Given the description of an element on the screen output the (x, y) to click on. 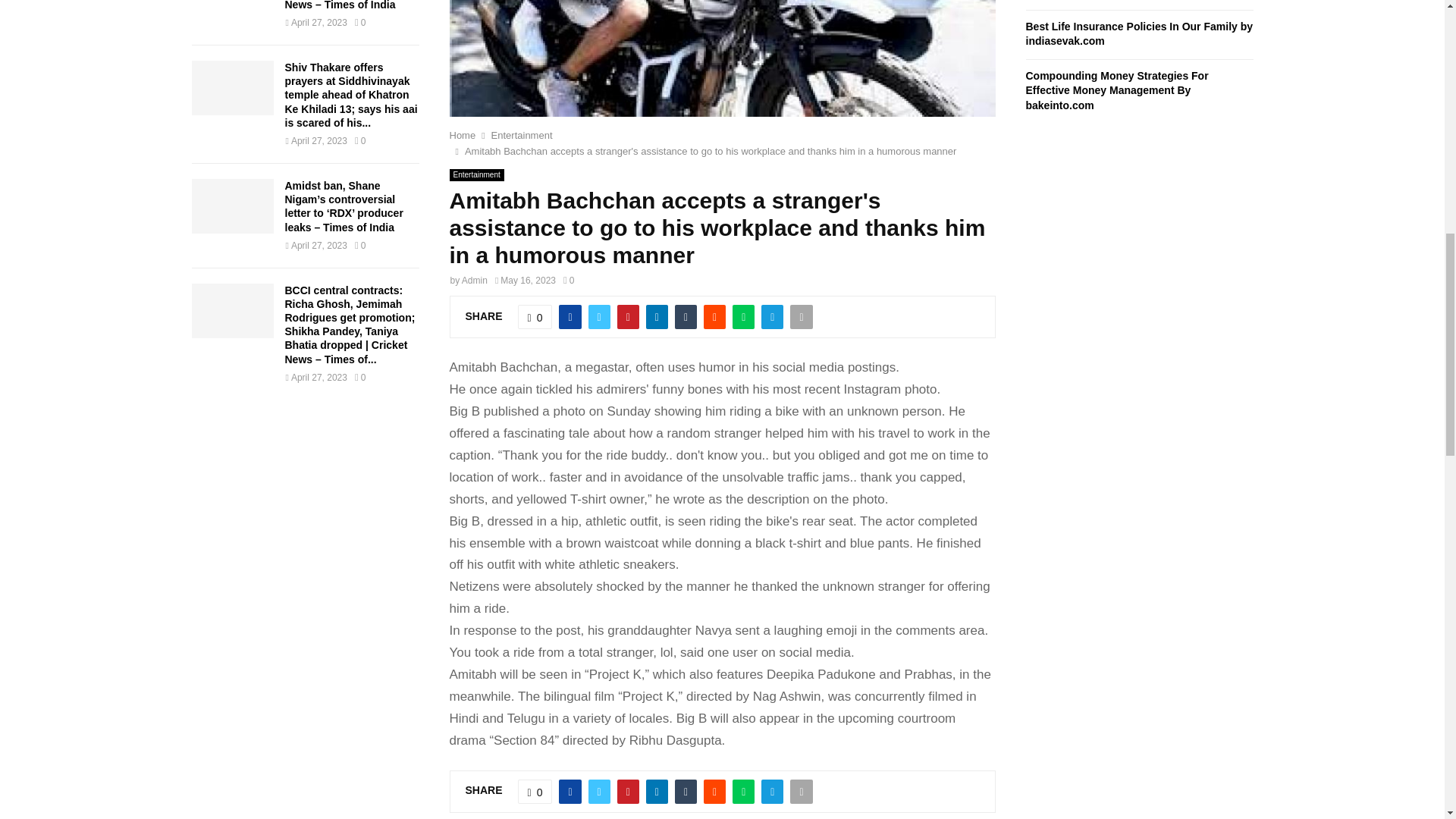
Home (462, 134)
Like (535, 791)
Like (535, 316)
Entertainment (522, 134)
